Given the description of an element on the screen output the (x, y) to click on. 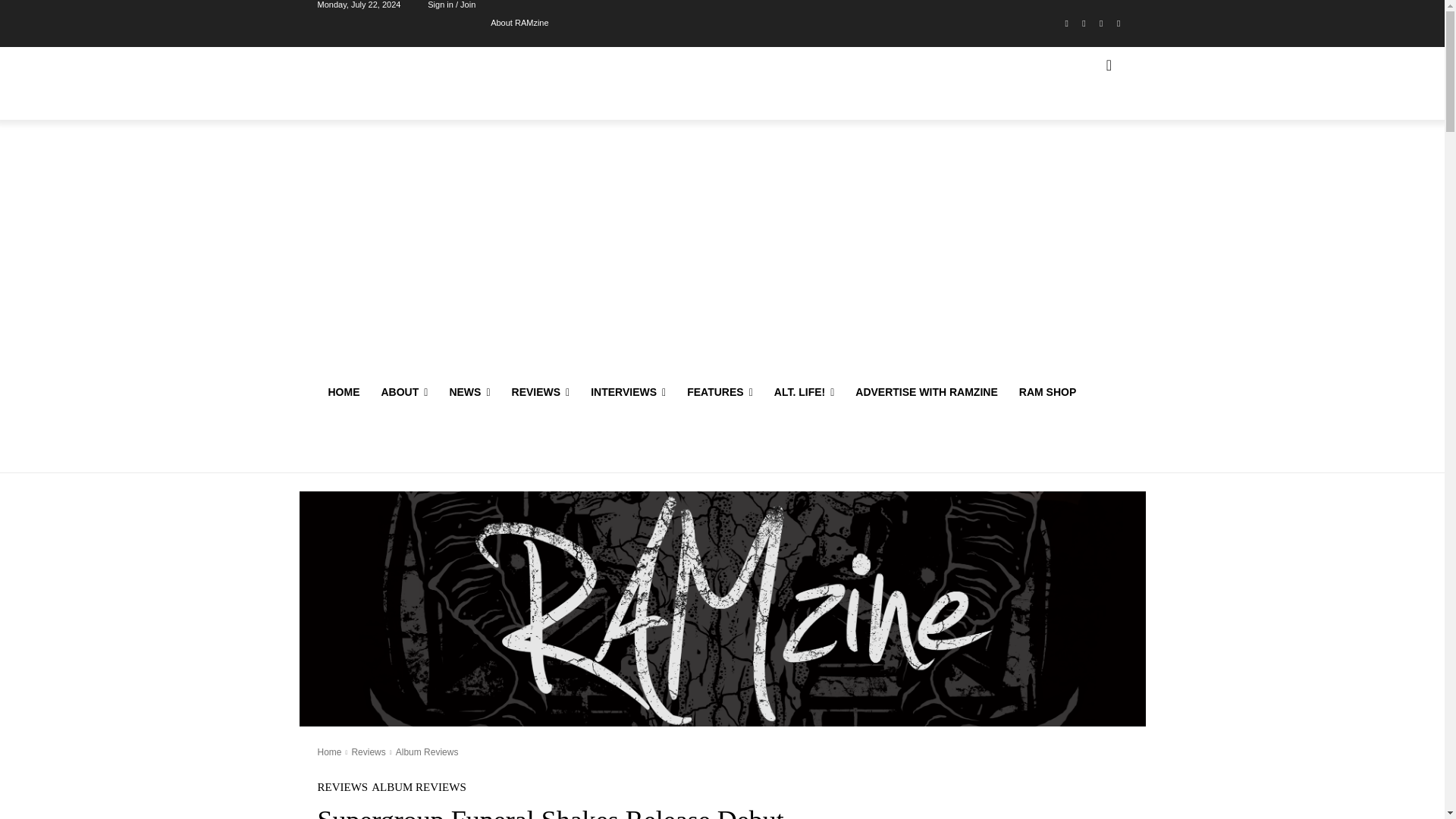
Youtube (1117, 23)
Facebook (1066, 23)
Twitter (1101, 23)
Instagram (1084, 23)
